Given the description of an element on the screen output the (x, y) to click on. 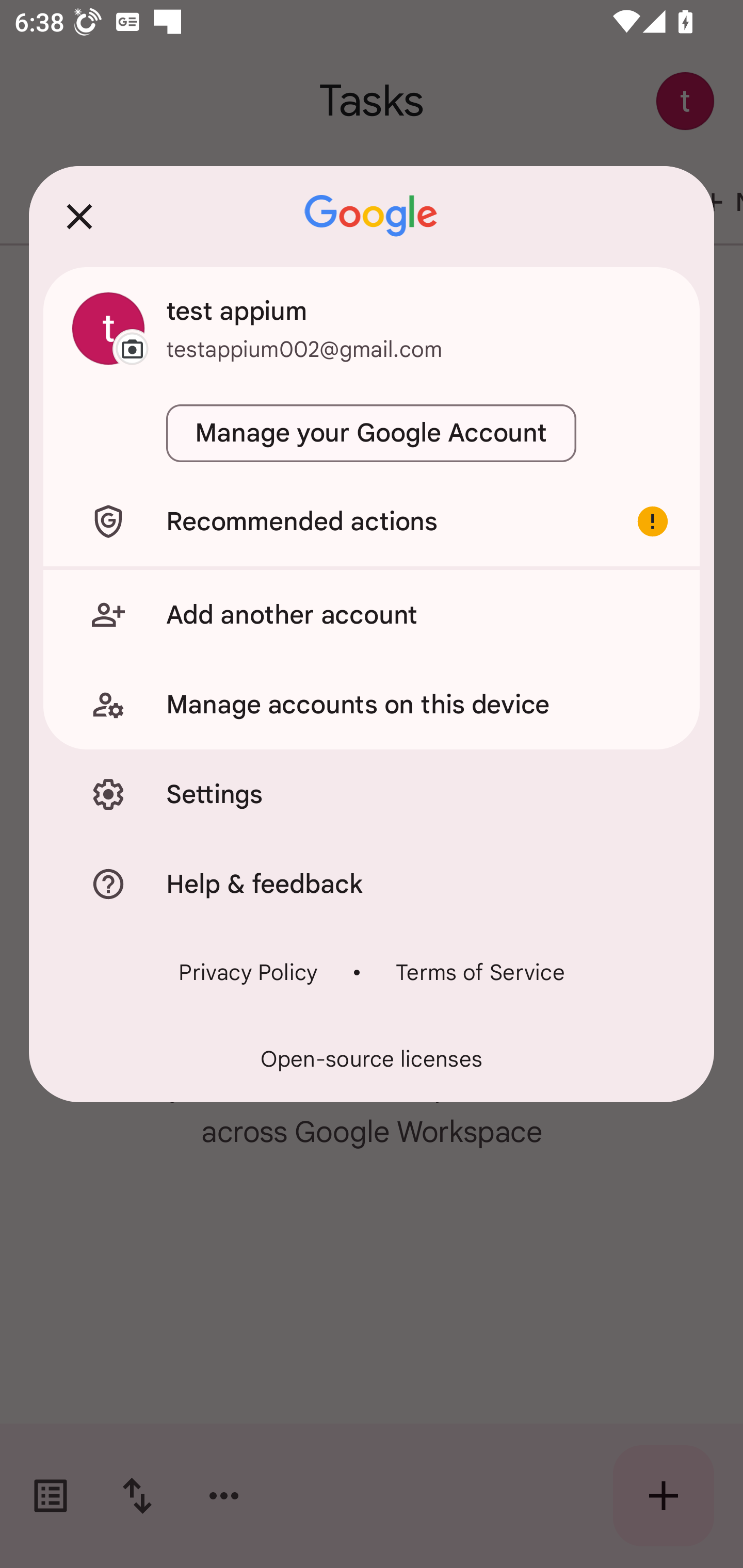
Close (79, 216)
Change profile picture. (108, 328)
Manage your Google Account (371, 433)
Recommended actions Important account alert (371, 521)
Add another account (371, 614)
Manage accounts on this device (371, 704)
Settings (371, 793)
Help & feedback (371, 883)
Privacy Policy (247, 972)
Terms of Service (479, 972)
Open-source licenses (371, 1059)
